Given the description of an element on the screen output the (x, y) to click on. 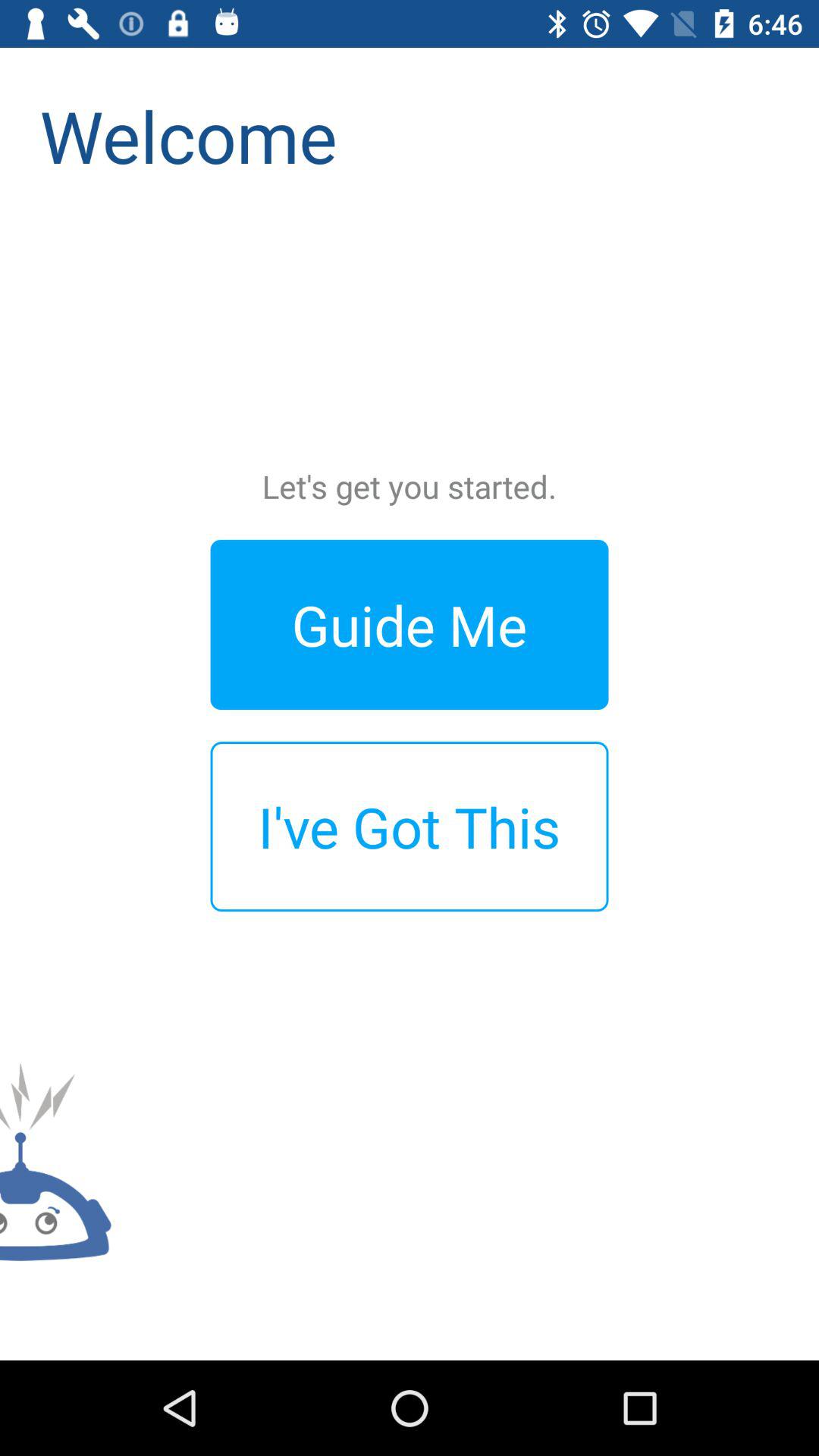
select the app below let s get item (409, 624)
